Given the description of an element on the screen output the (x, y) to click on. 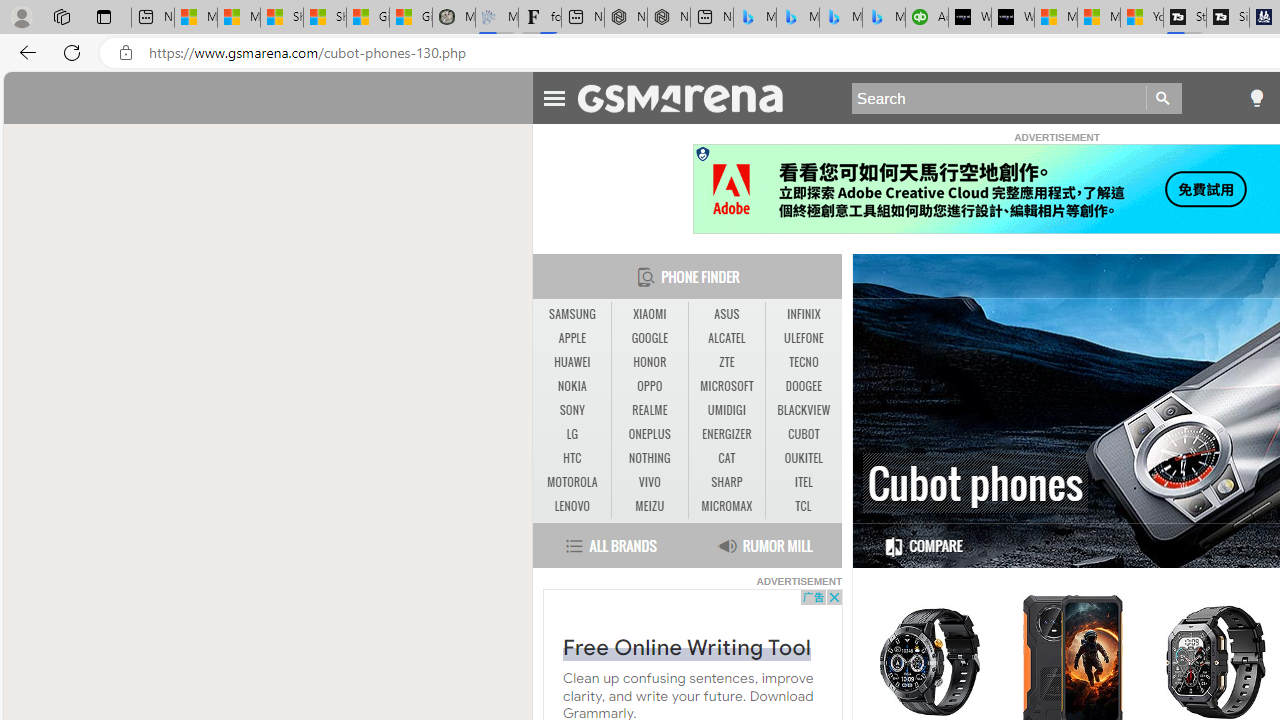
HUAWEI (571, 362)
Toggle Navigation (553, 95)
MEIZU (649, 506)
AutomationID: button (702, 154)
NOTHING (649, 457)
Go (1163, 97)
OPPO (649, 386)
Microsoft Bing Travel - Stays in Bangkok, Bangkok, Thailand (798, 17)
OUKITEL (803, 457)
LG (571, 434)
